Given the description of an element on the screen output the (x, y) to click on. 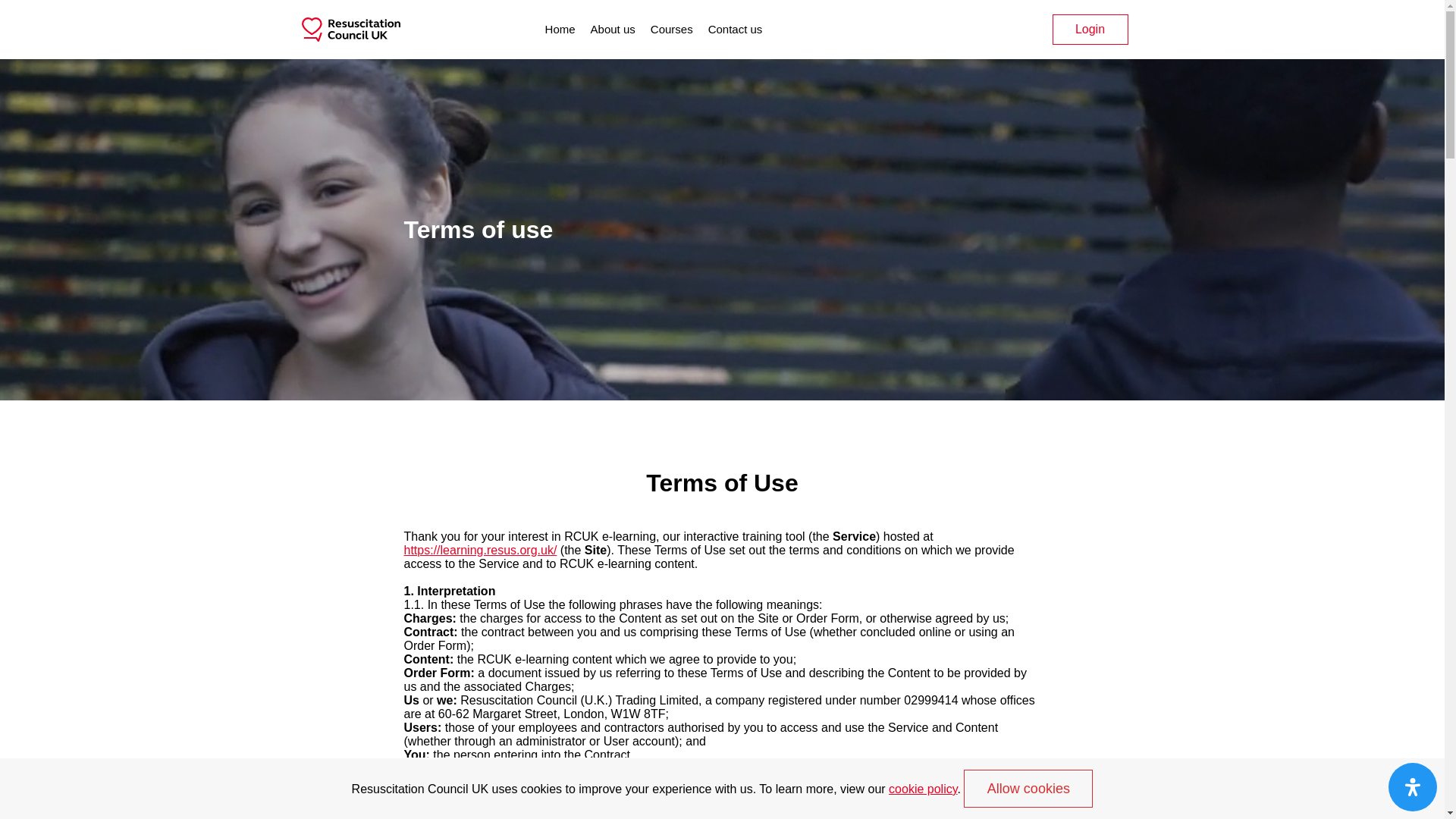
Home (559, 29)
Courses (671, 29)
cookie policy (922, 788)
About us (612, 29)
Login (1090, 29)
Contact us (734, 29)
Allow cookies (1028, 788)
